Given the description of an element on the screen output the (x, y) to click on. 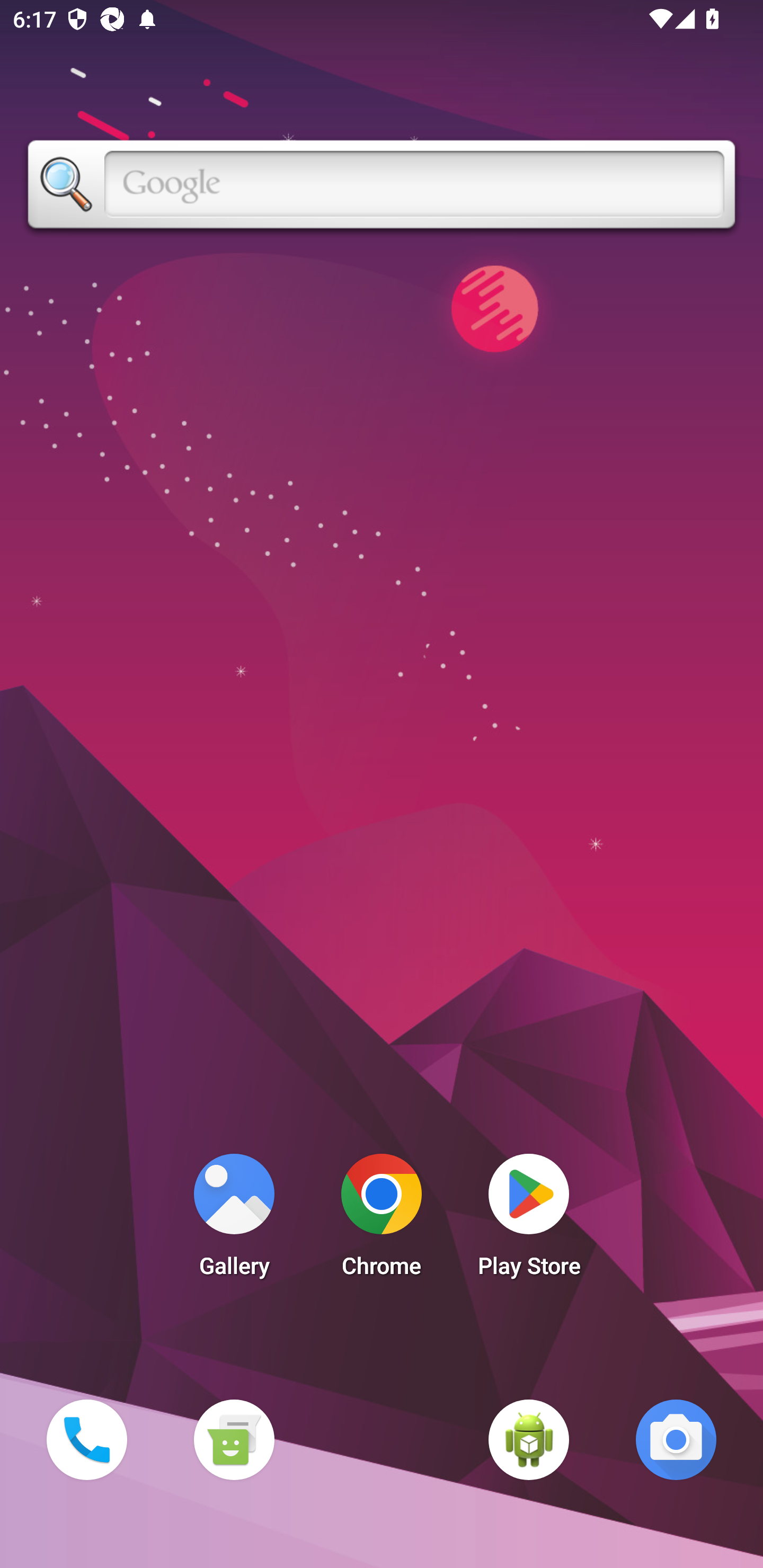
Gallery (233, 1220)
Chrome (381, 1220)
Play Store (528, 1220)
Phone (86, 1439)
Messaging (233, 1439)
WebView Browser Tester (528, 1439)
Camera (676, 1439)
